Given the description of an element on the screen output the (x, y) to click on. 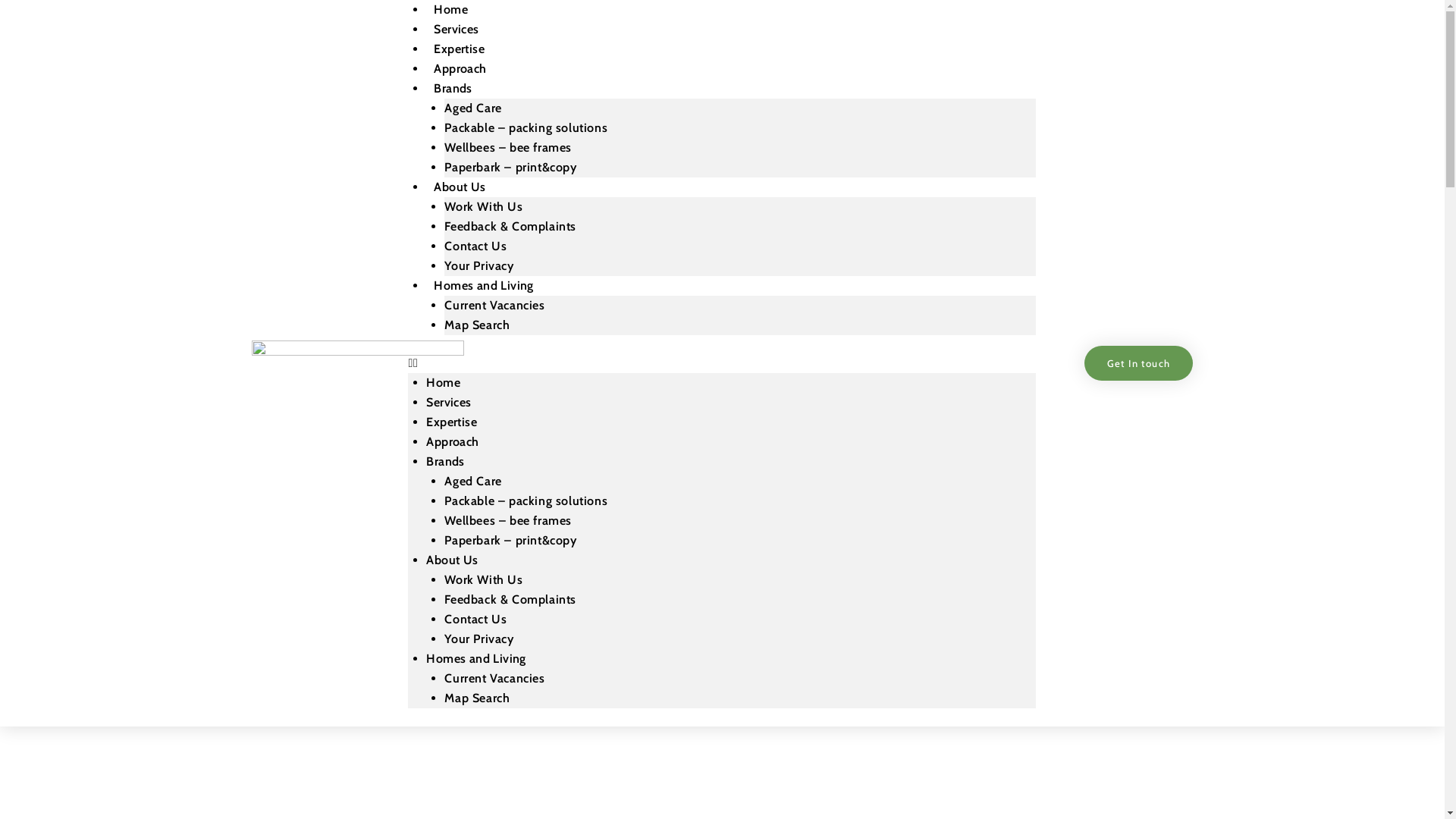
Your Privacy Element type: text (478, 265)
Current Vacancies Element type: text (494, 678)
Work With Us Element type: text (483, 579)
Feedback & Complaints Element type: text (510, 226)
About Us Element type: text (451, 559)
Current Vacancies Element type: text (494, 305)
Aged Care Element type: text (472, 480)
Contact Us Element type: text (475, 245)
About Us Element type: text (459, 186)
Services Element type: text (448, 402)
Approach Element type: text (459, 68)
Homes and Living Element type: text (475, 658)
Your Privacy Element type: text (478, 638)
Aged Care Element type: text (472, 107)
Homes and Living Element type: text (483, 285)
Expertise Element type: text (451, 421)
Expertise Element type: text (459, 48)
Map Search Element type: text (476, 697)
Brands Element type: text (452, 88)
Map Search Element type: text (476, 324)
Get In touch Element type: text (1138, 362)
Brands Element type: text (445, 461)
Contact Us Element type: text (475, 618)
Approach Element type: text (452, 441)
Home Element type: text (443, 382)
Work With Us Element type: text (483, 206)
Feedback & Complaints Element type: text (510, 599)
